Given the description of an element on the screen output the (x, y) to click on. 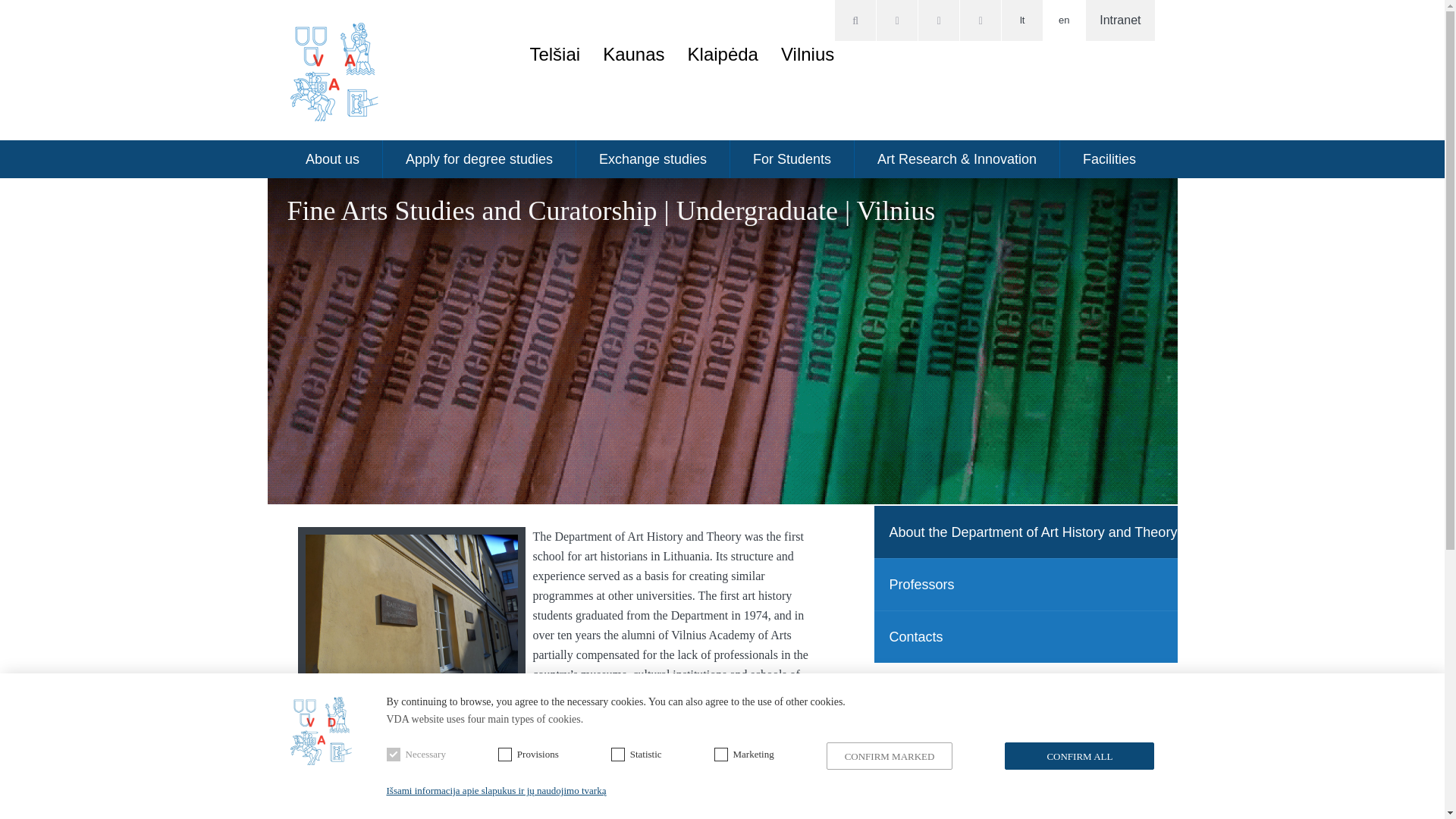
Intranet (1120, 20)
Kaunas (632, 54)
About us (332, 159)
Apply for degree studies (479, 159)
lt (1021, 20)
Vilnius (807, 54)
en (1063, 20)
Exchange studies (653, 159)
